Given the description of an element on the screen output the (x, y) to click on. 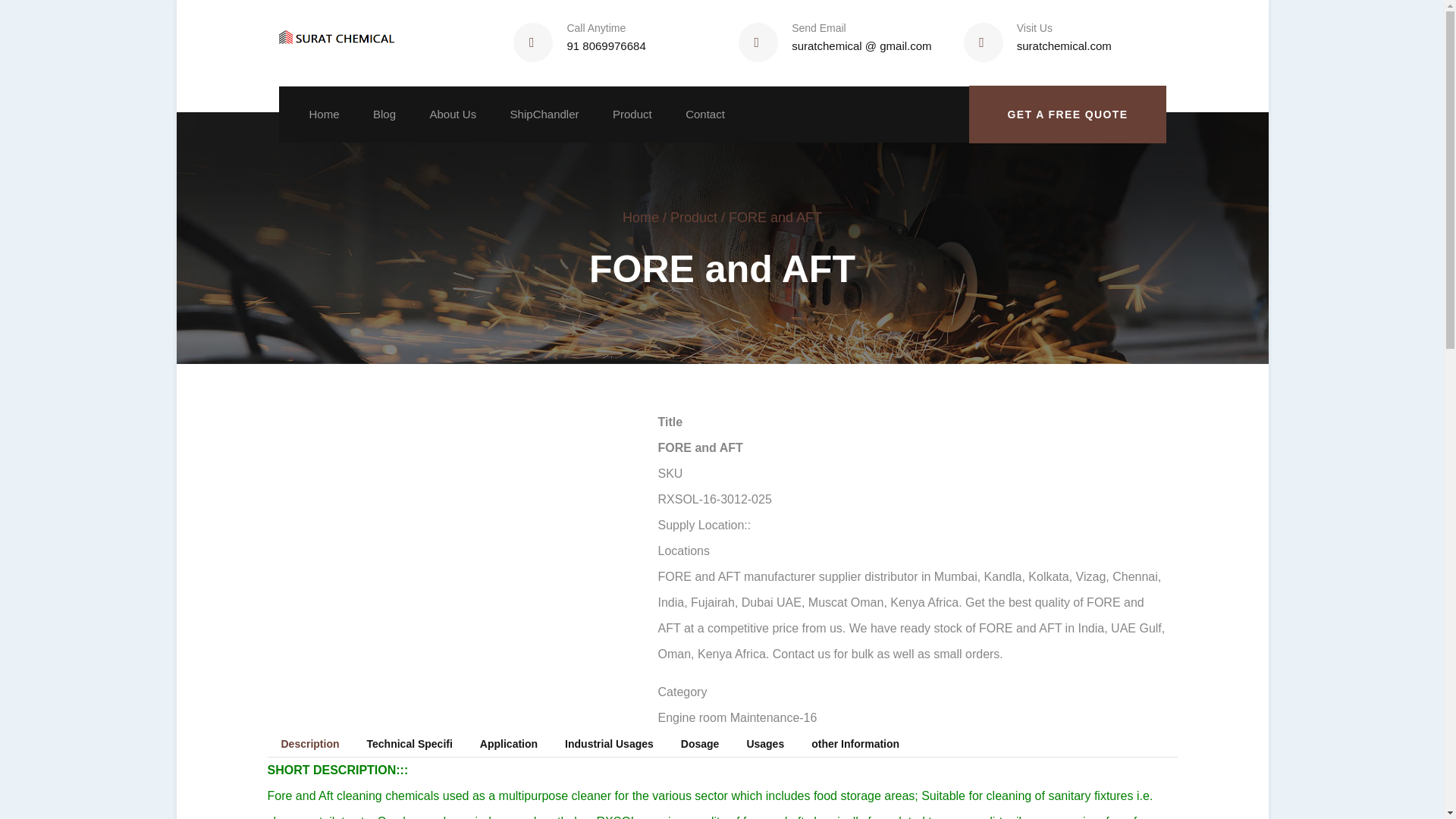
Industrial Usages (608, 743)
Product (693, 217)
Home (339, 42)
Dosage (699, 743)
GET A FREE QUOTE (1067, 114)
Contact (705, 114)
Home (641, 217)
Description (309, 743)
ShipChandler (545, 114)
Technical Specifi (409, 743)
